Given the description of an element on the screen output the (x, y) to click on. 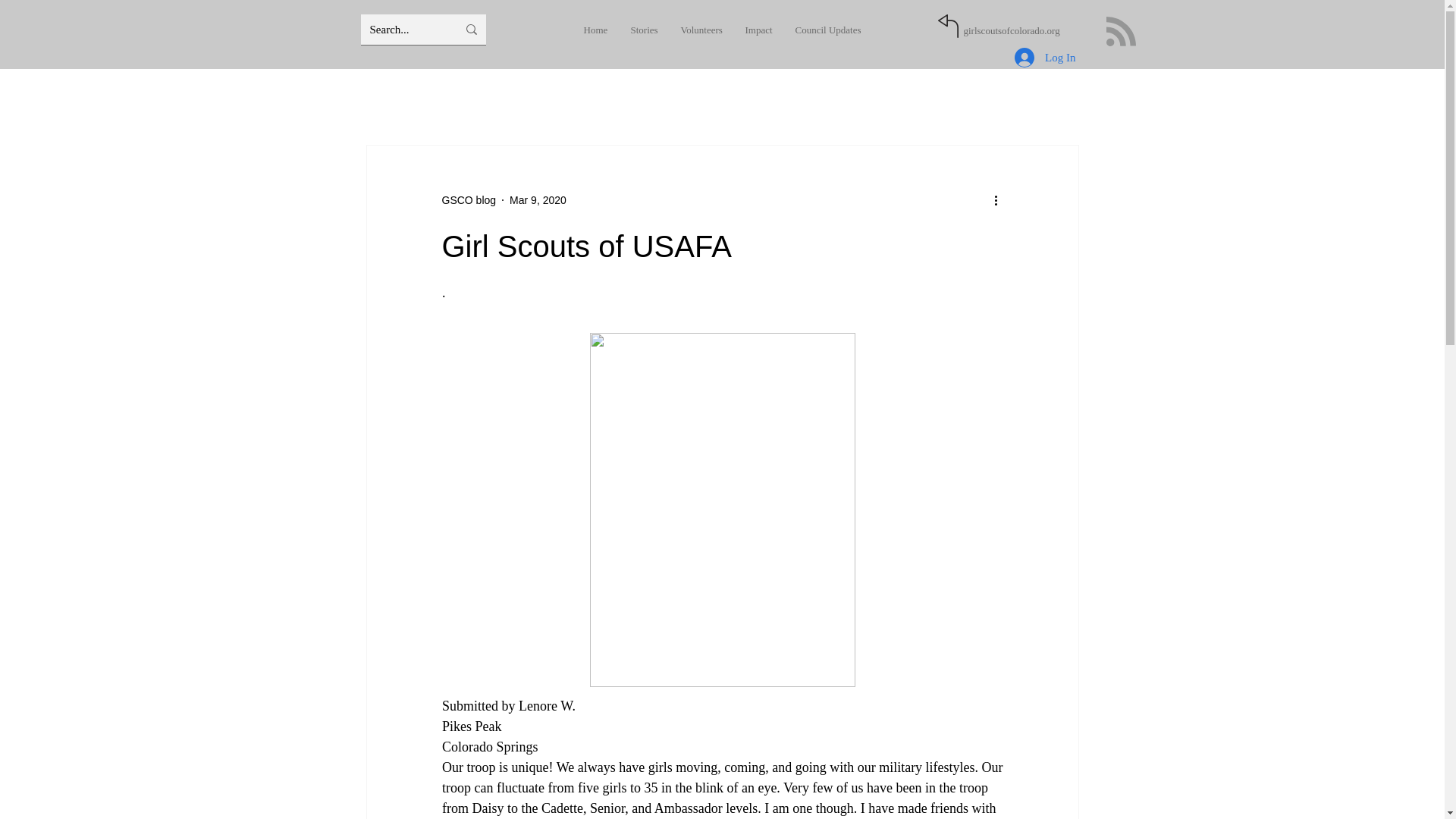
Log In (1045, 57)
Home (595, 29)
Council Updates (828, 29)
Mar 9, 2020 (537, 200)
GSCO blog (468, 200)
Impact (758, 29)
Stories (643, 29)
Volunteers (700, 29)
GSCO blog (468, 200)
girlscoutsofcolorado.org (1010, 30)
